Given the description of an element on the screen output the (x, y) to click on. 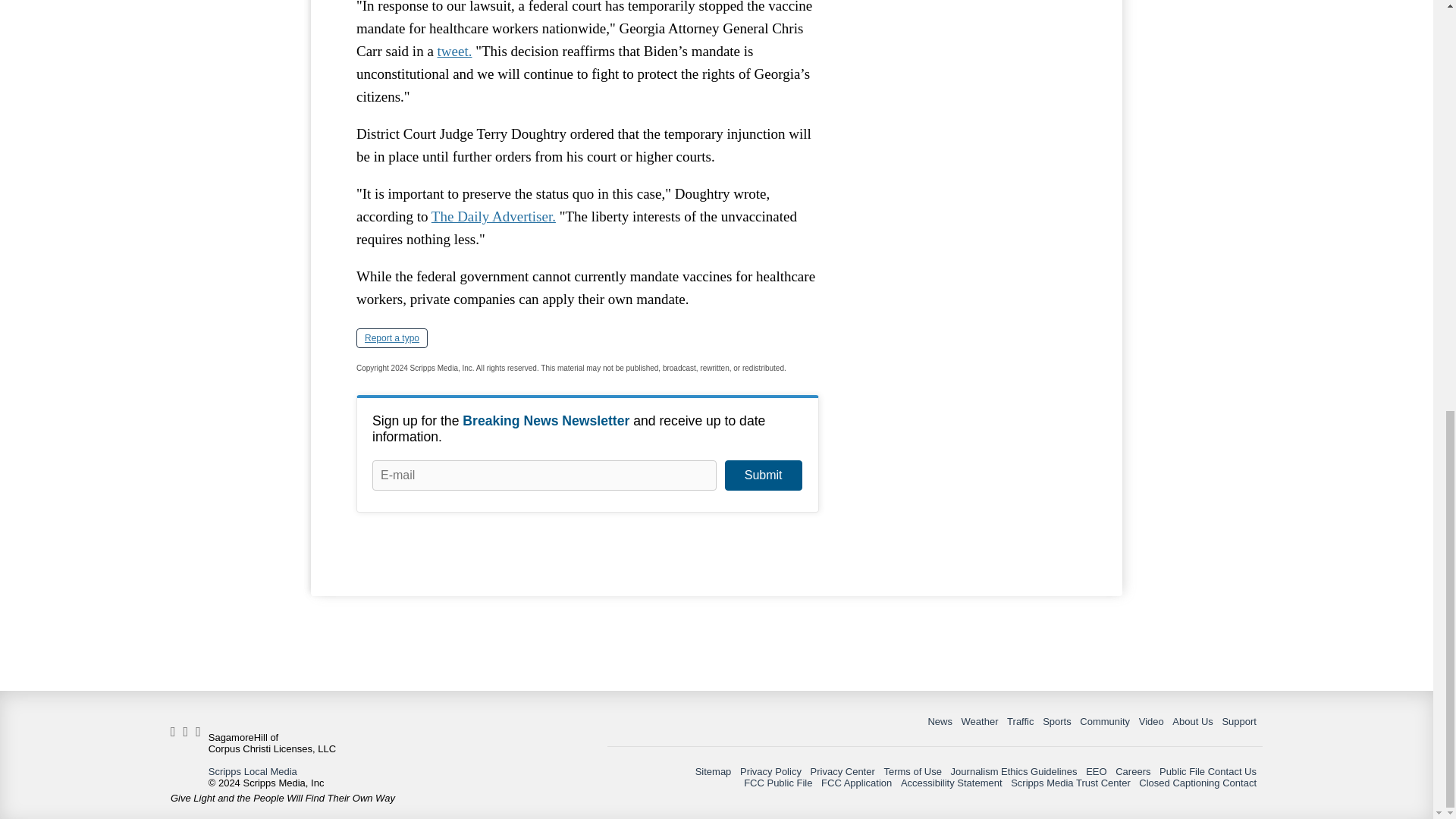
Submit (763, 475)
